Given the description of an element on the screen output the (x, y) to click on. 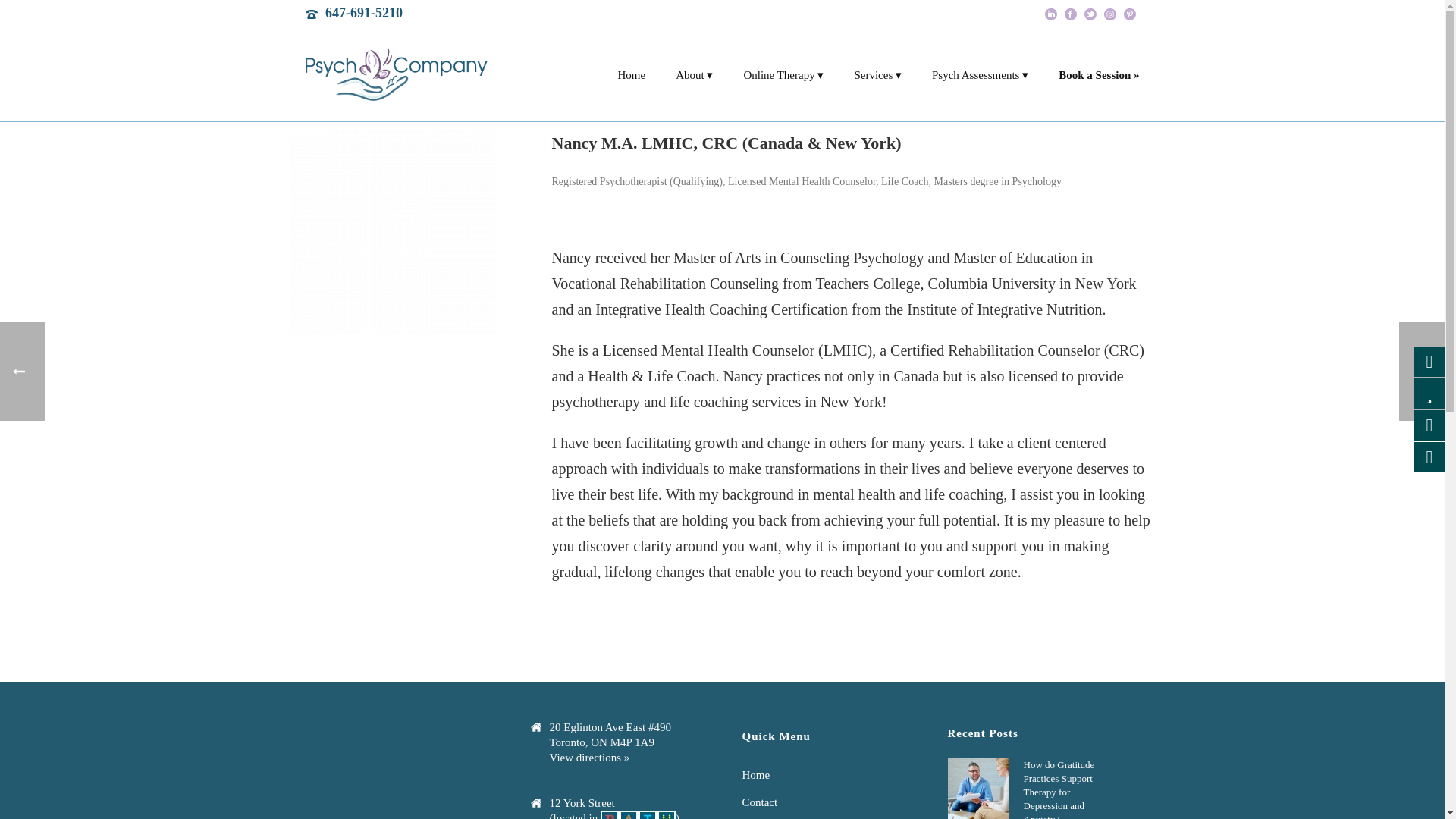
647-691-5210 (363, 12)
